Given the description of an element on the screen output the (x, y) to click on. 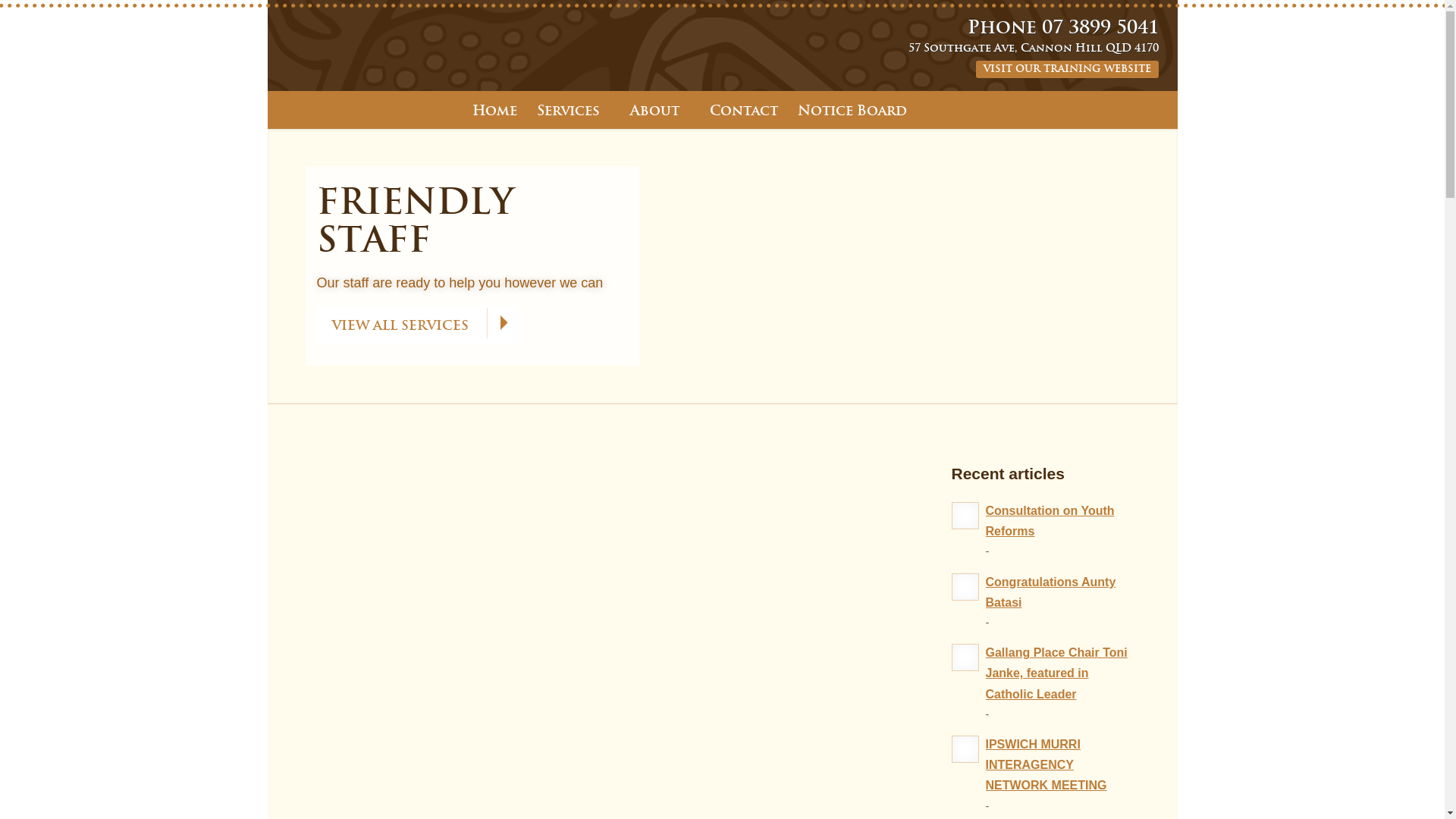
Read: Consultation on Youth Reforms Element type: hover (964, 515)
Notice Board Element type: text (856, 109)
Contact Element type: text (743, 109)
Services Element type: text (572, 109)
IPSWICH MURRI INTERAGENCY NETWORK MEETING Element type: text (1046, 764)
Home Element type: text (498, 109)
VISIT OUR TRAINING WEBSITE Element type: text (1066, 69)
Read: IPSWICH MURRI INTERAGENCY NETWORK MEETING Element type: hover (964, 748)
Congratulations Aunty Batasi Element type: text (1050, 591)
Read: Congratulations Aunty Batasi Element type: hover (964, 586)
Gallang Place Chair Toni Janke, featured in Catholic Leader Element type: text (1056, 672)
logo Element type: hover (274, 0)
Consultation on Youth Reforms Element type: text (1049, 520)
About Element type: text (659, 109)
VIEW ALL SERVICES Element type: text (416, 324)
